Given the description of an element on the screen output the (x, y) to click on. 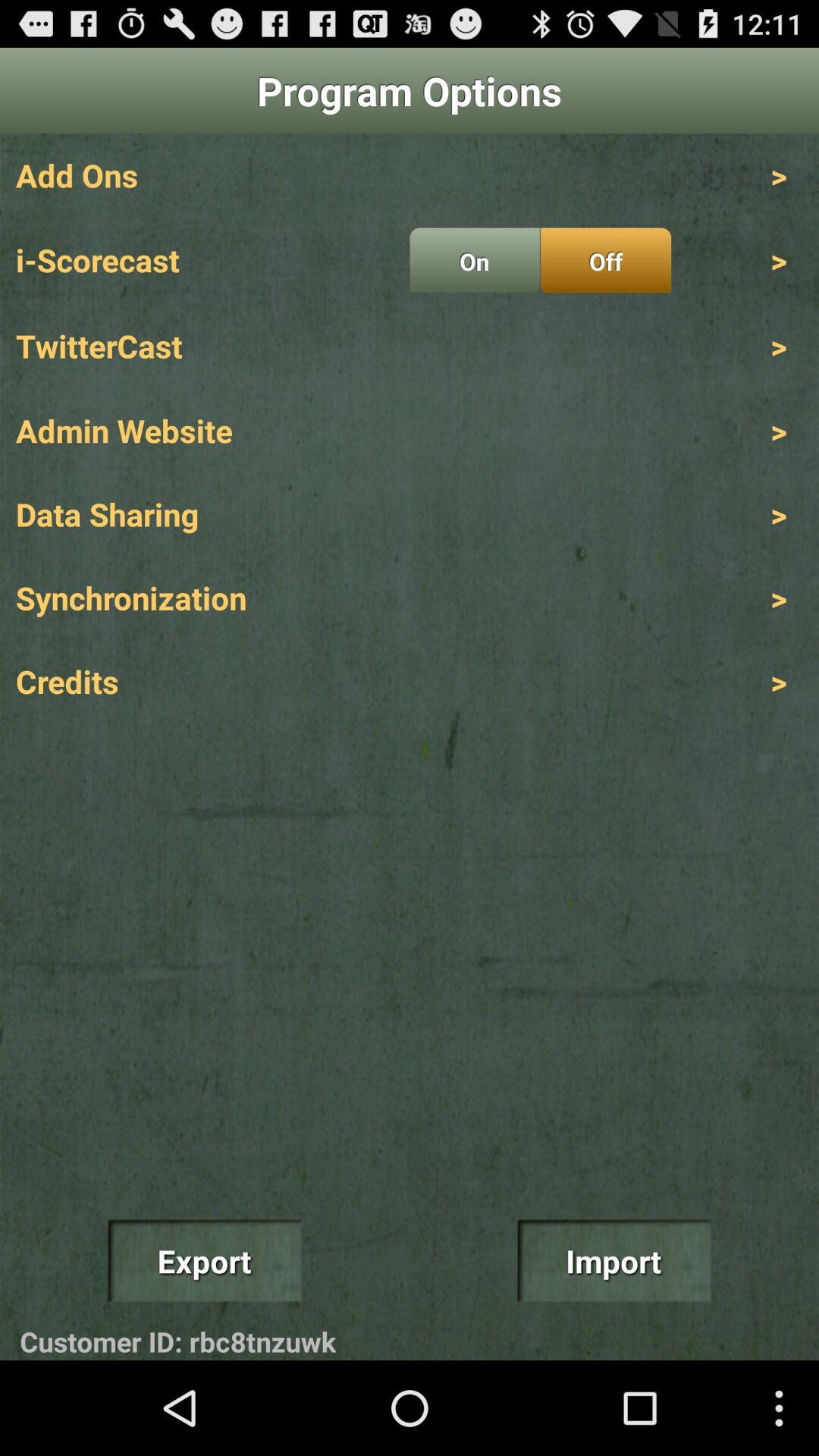
tap item to the left of the off (474, 259)
